Given the description of an element on the screen output the (x, y) to click on. 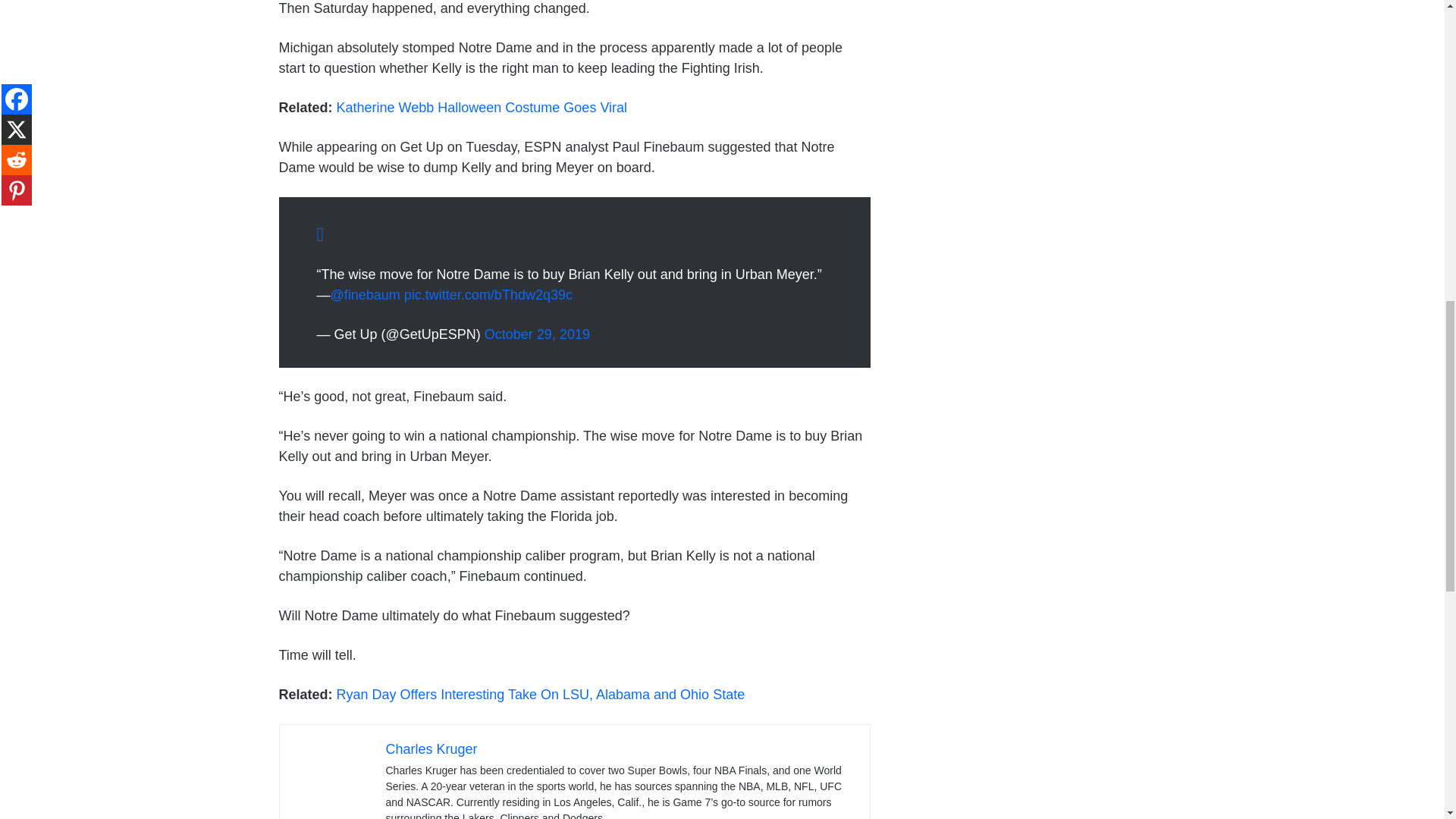
October 29, 2019 (536, 334)
Katherine Webb Halloween Costume Goes Viral (481, 107)
Charles Kruger (431, 749)
